Given the description of an element on the screen output the (x, y) to click on. 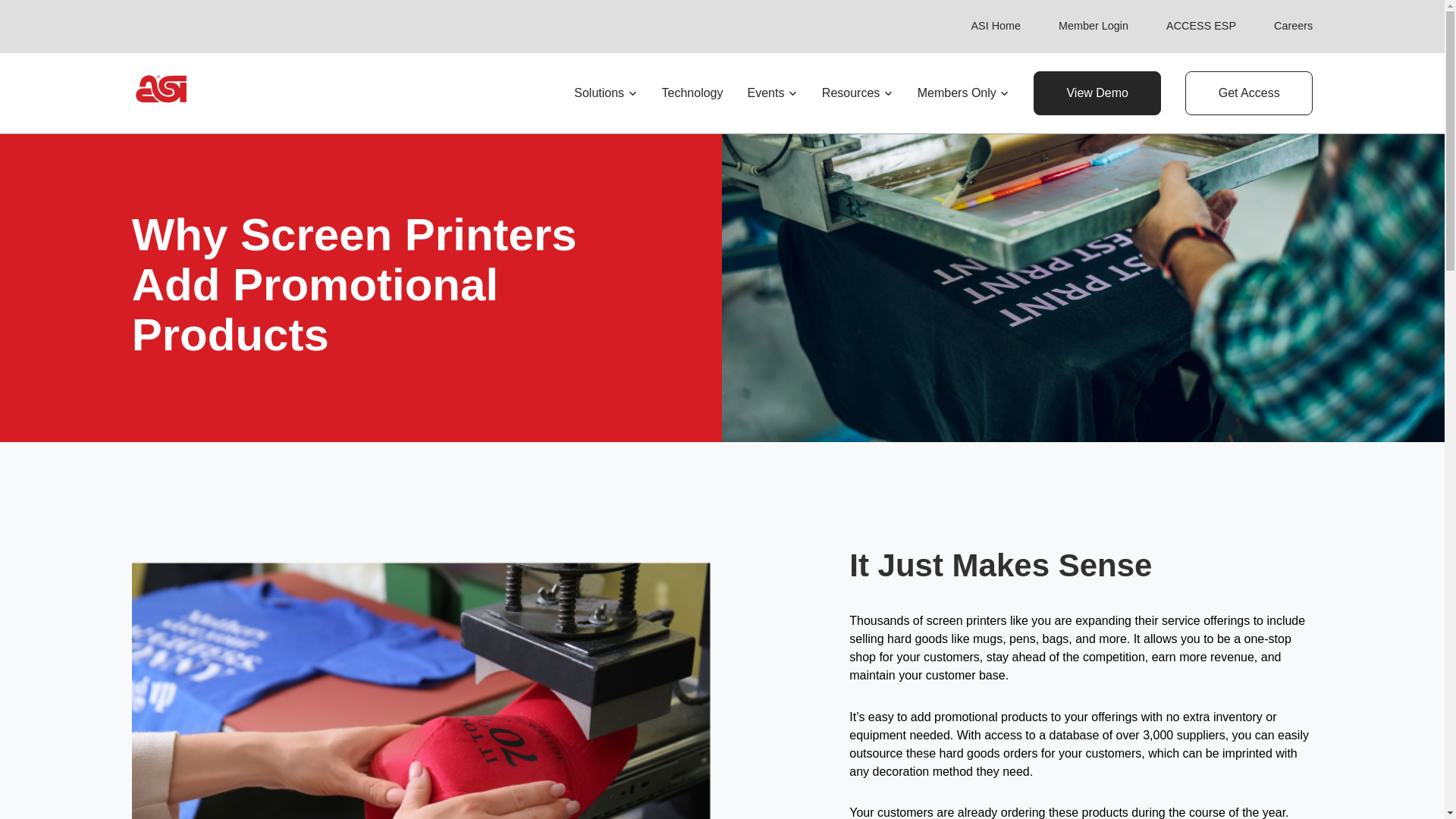
View Demo (1096, 93)
Resources (857, 92)
Get Access (1249, 93)
Member Login (1093, 26)
Technology (692, 92)
Solutions (605, 92)
Members Only (963, 92)
ASI Home (995, 26)
Careers (1293, 26)
ACCESS ESP (1201, 26)
Events (771, 92)
